Given the description of an element on the screen output the (x, y) to click on. 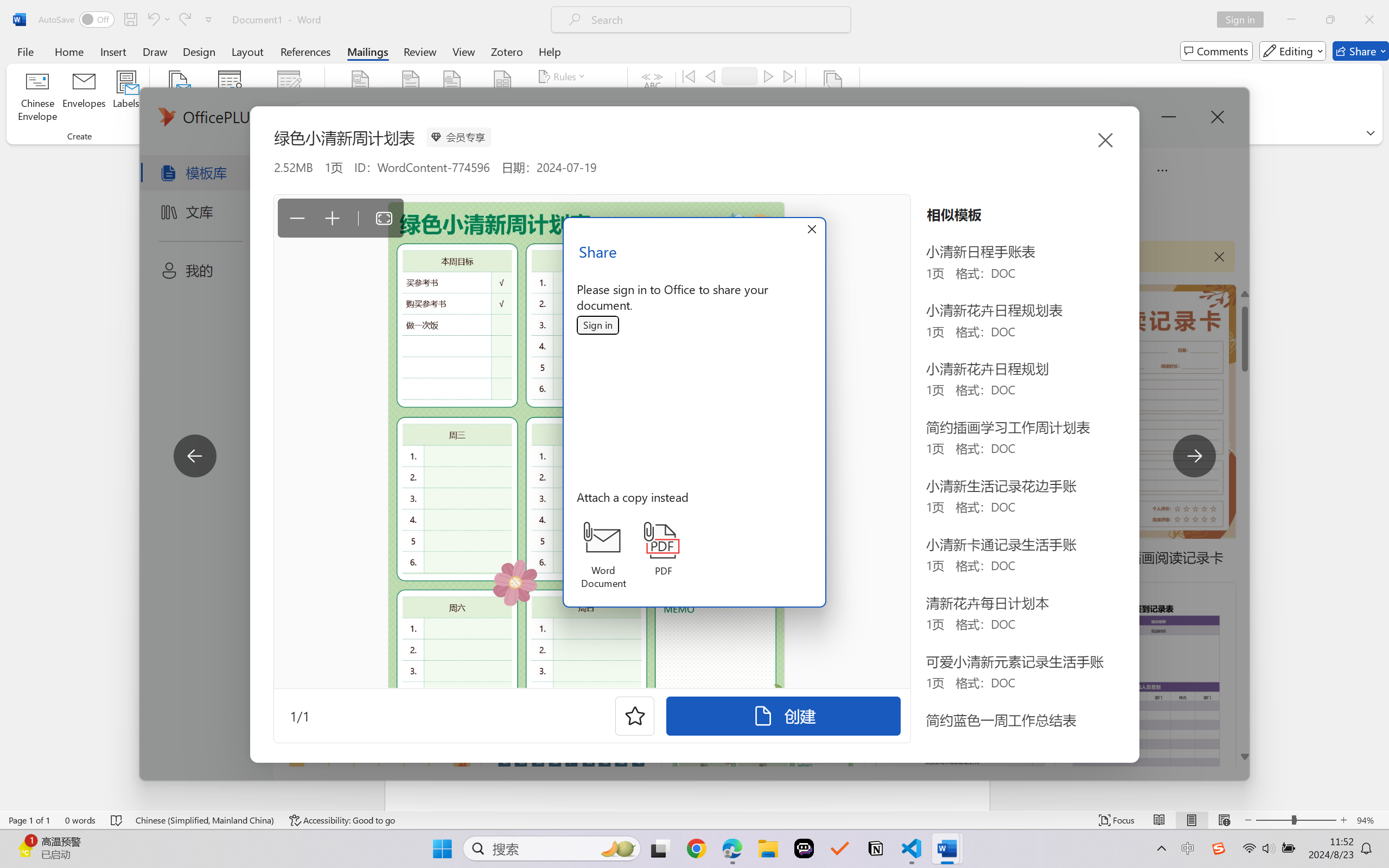
Envelopes... (84, 97)
Insert Merge Field (502, 81)
Chinese Envelope... (37, 97)
Select Recipients (229, 97)
Undo Apply Quick Style Set (152, 19)
Labels... (126, 97)
